Given the description of an element on the screen output the (x, y) to click on. 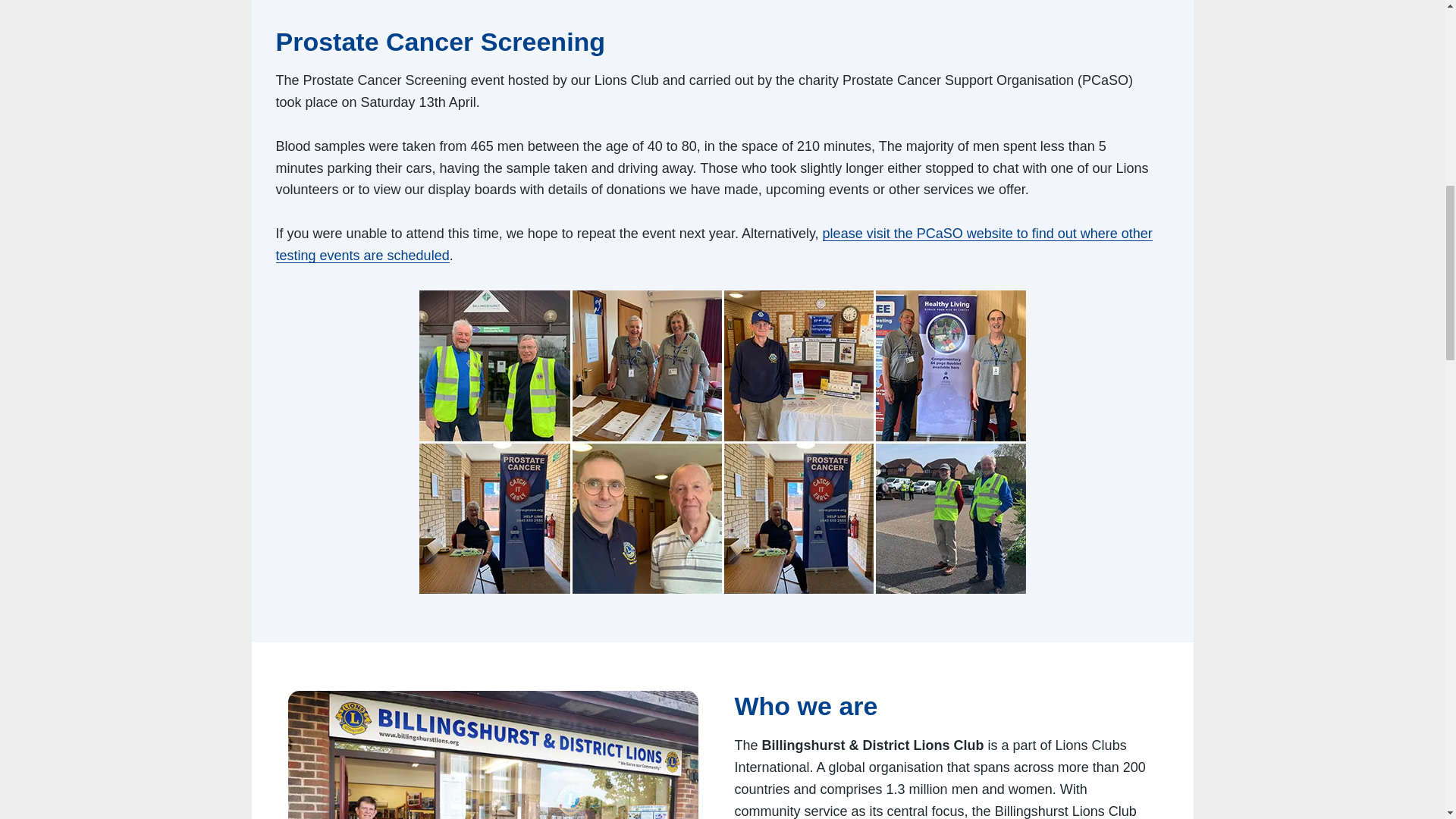
Billingshurst Lions Bookshop (493, 755)
